Given the description of an element on the screen output the (x, y) to click on. 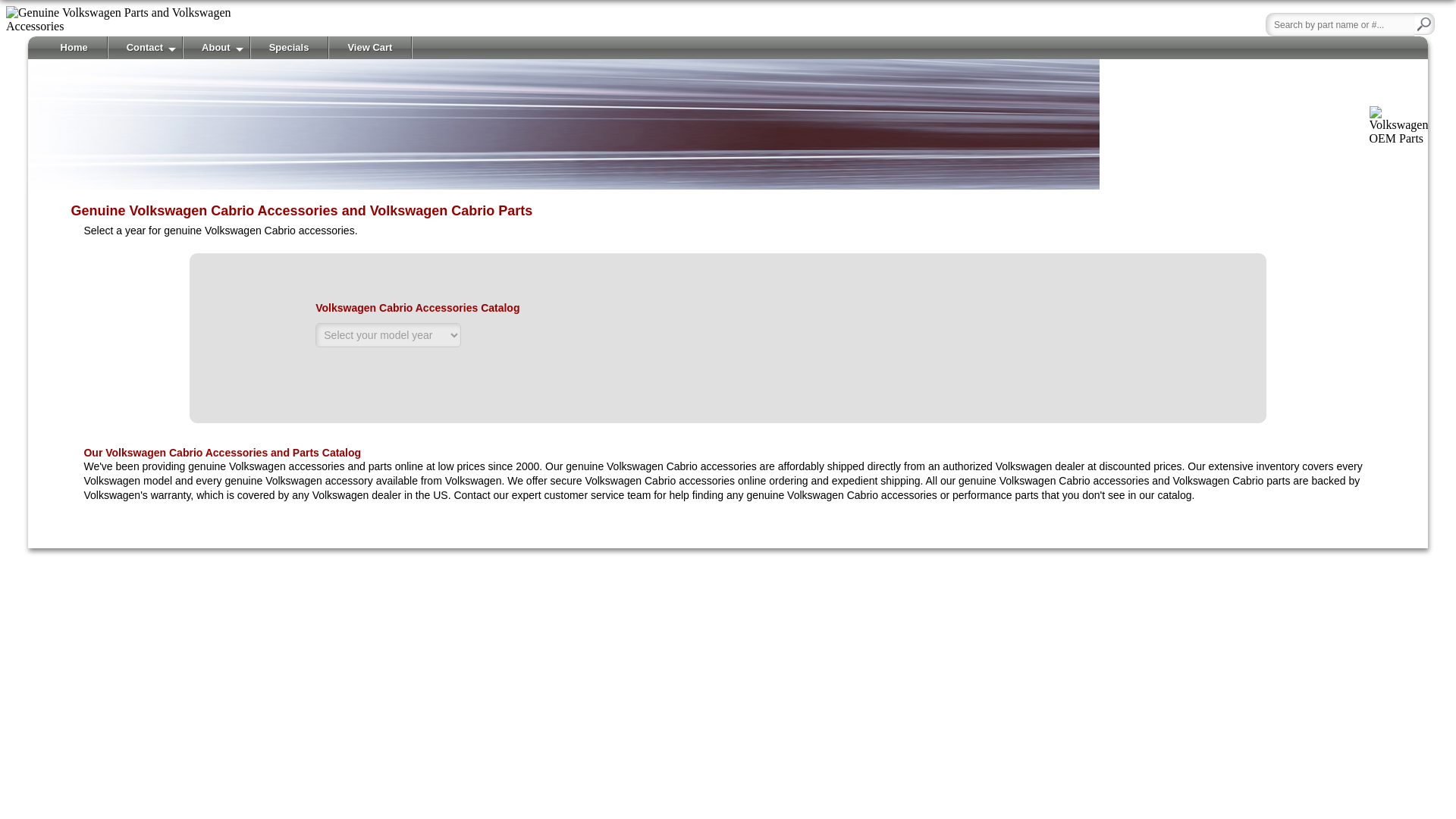
Specials (289, 47)
About (216, 47)
Home (74, 47)
View Cart (370, 47)
Contact (145, 47)
